Given the description of an element on the screen output the (x, y) to click on. 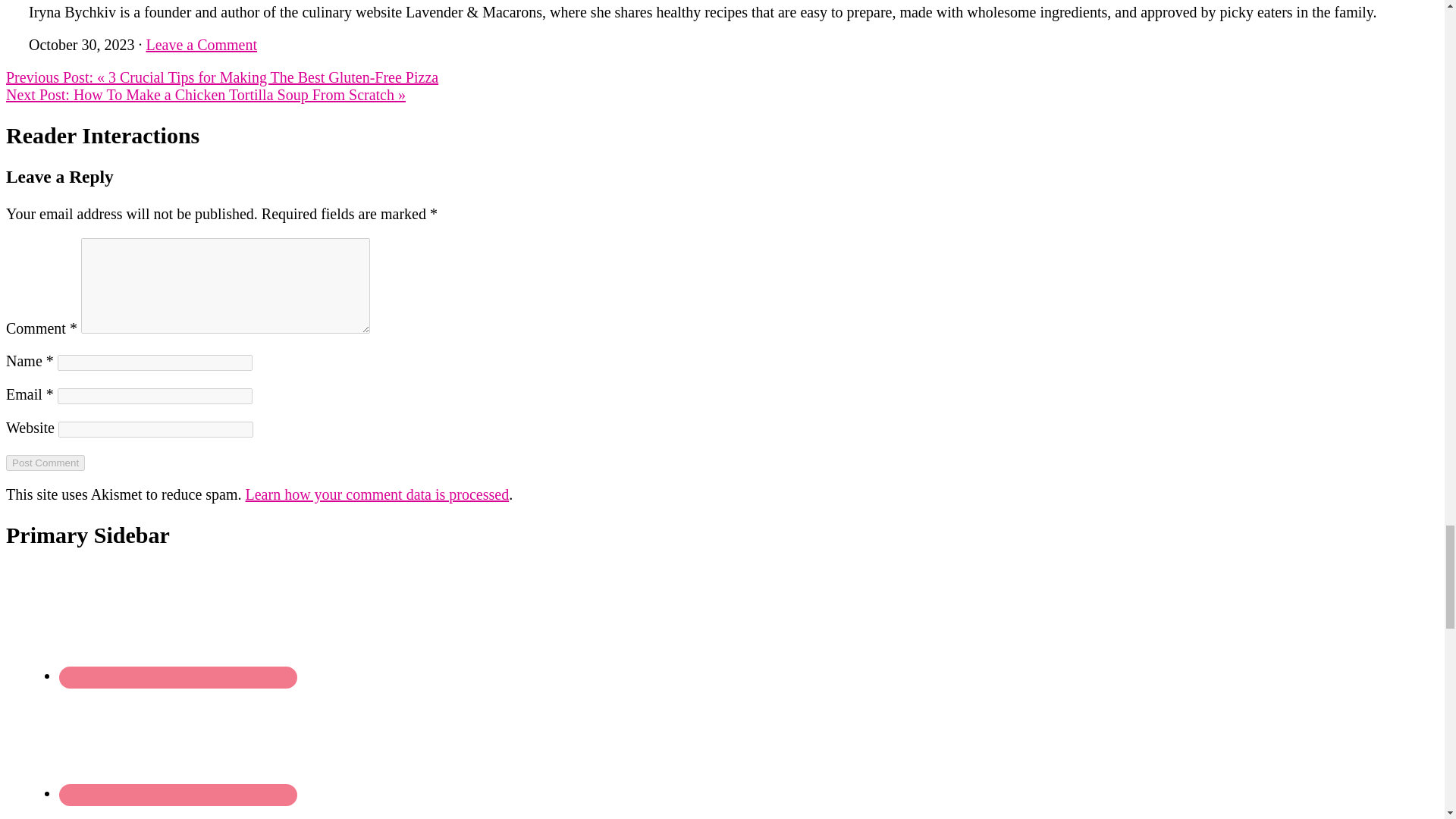
Post Comment (44, 462)
Pinterest (178, 810)
Instagram (178, 741)
Facebook (178, 623)
